Given the description of an element on the screen output the (x, y) to click on. 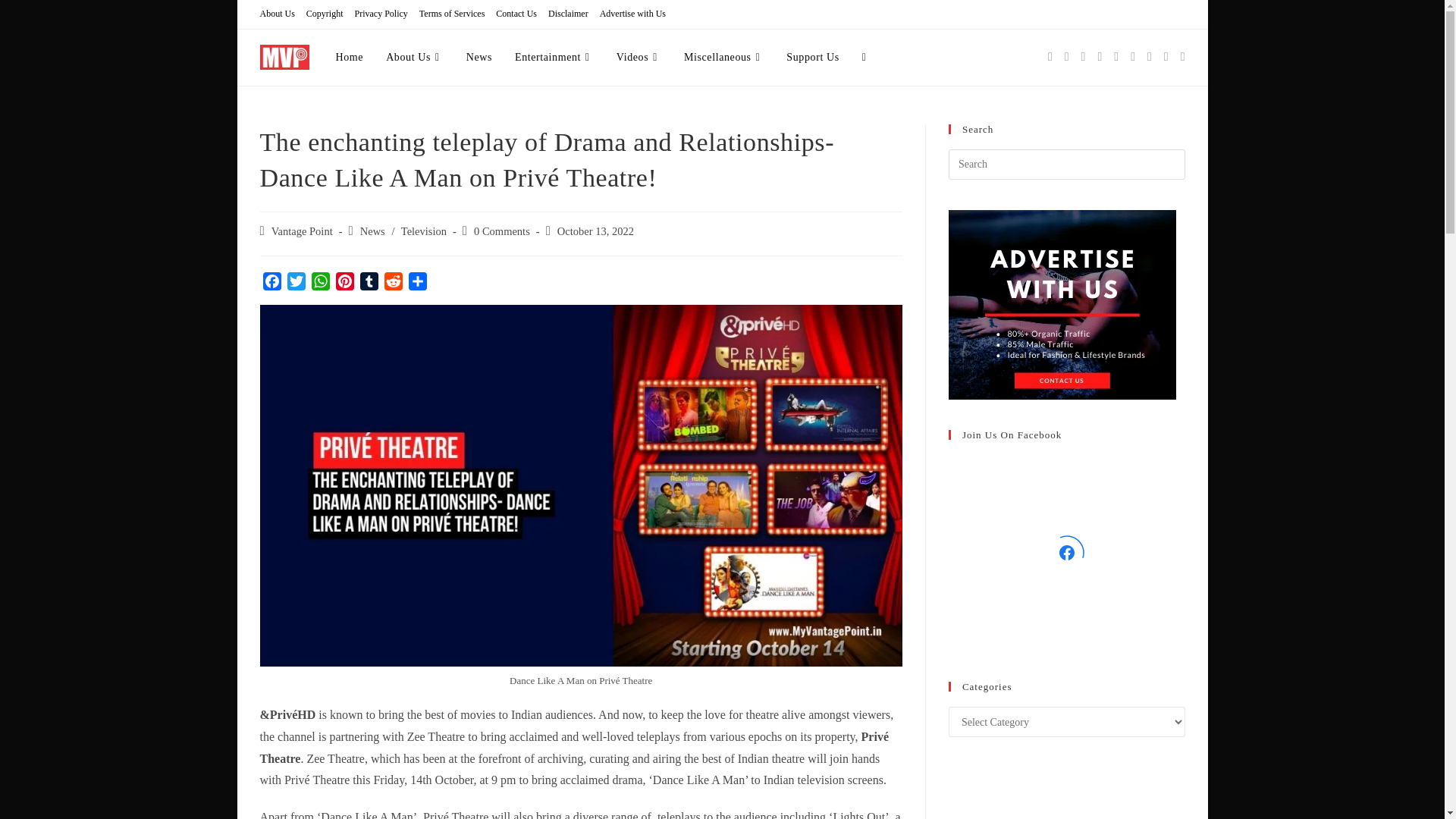
Contact Us (516, 13)
Copyright (324, 13)
About Us (414, 57)
Tumblr (368, 281)
Facebook (271, 281)
About Us (276, 13)
Pinterest (343, 281)
Reddit (392, 281)
Twitter (295, 281)
Home (349, 57)
